Given the description of an element on the screen output the (x, y) to click on. 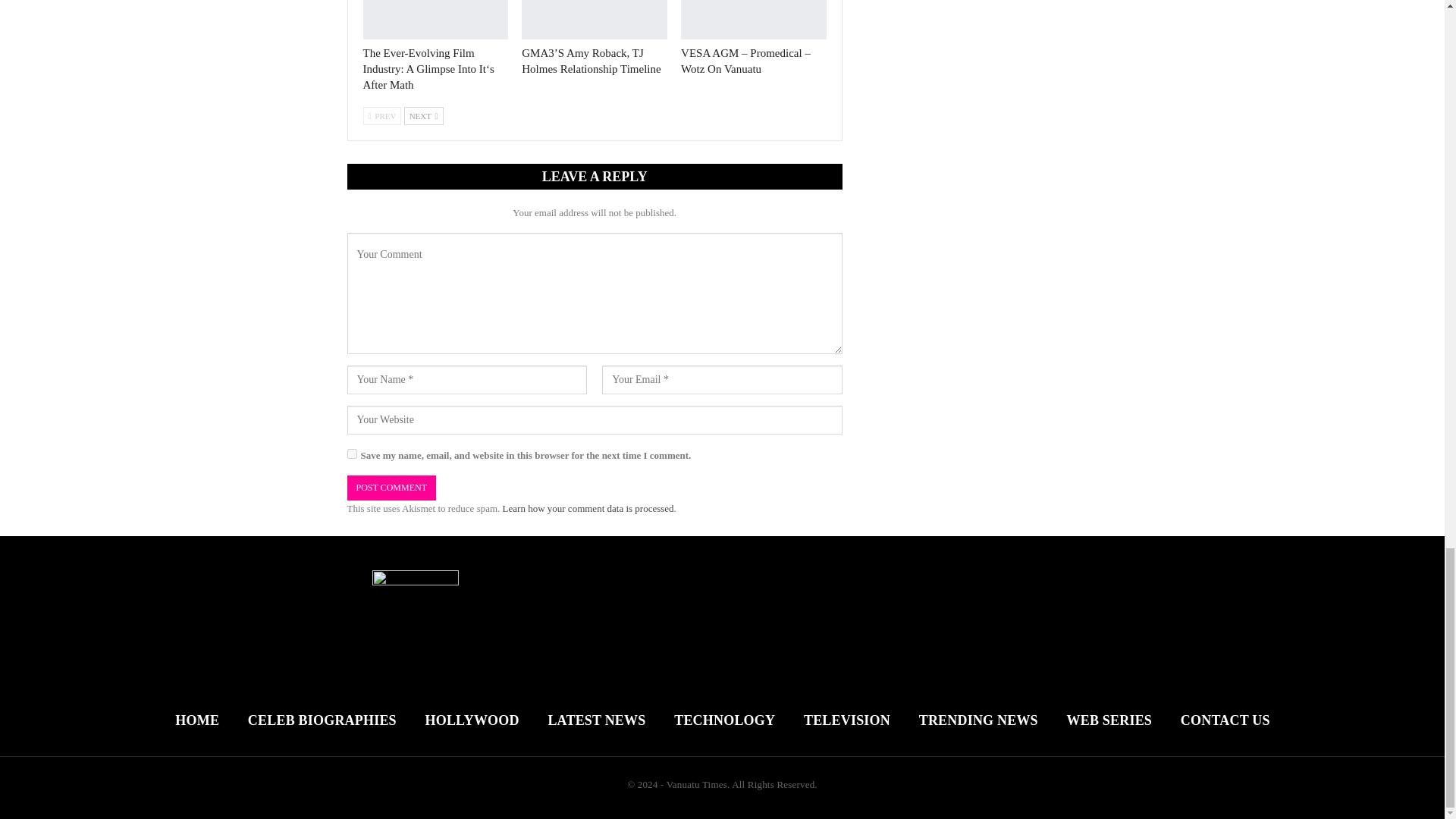
yes (351, 453)
Post Comment (391, 487)
